Given the description of an element on the screen output the (x, y) to click on. 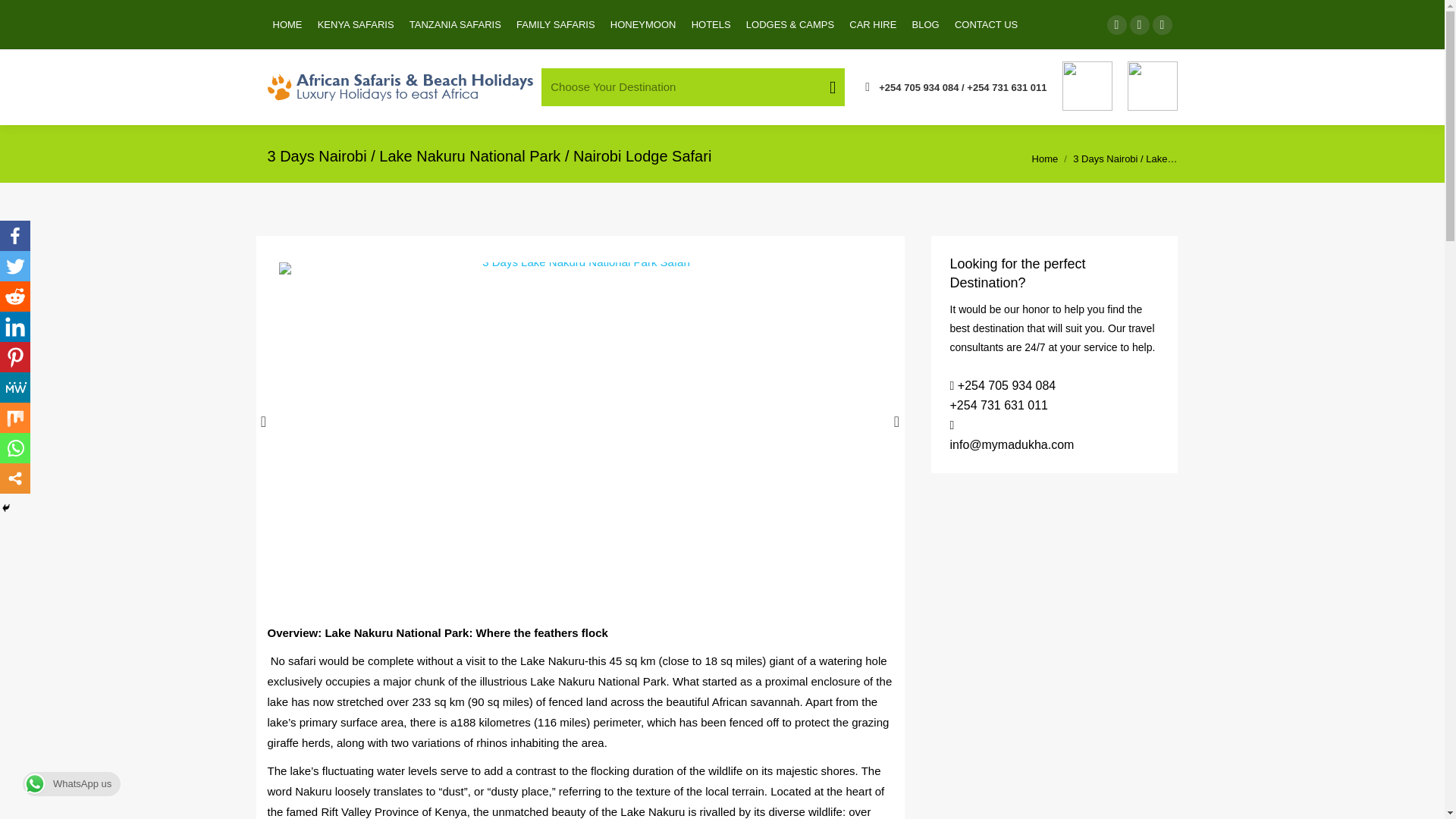
KENYA SAFARIS (355, 24)
Search form (692, 86)
TANZANIA SAFARIS (454, 24)
HOME (287, 24)
HOTELS (710, 24)
Facebook page opens in new window (1116, 25)
HONEYMOON (643, 24)
CONTACT US (986, 24)
Twitter page opens in new window (1139, 25)
